Given the description of an element on the screen output the (x, y) to click on. 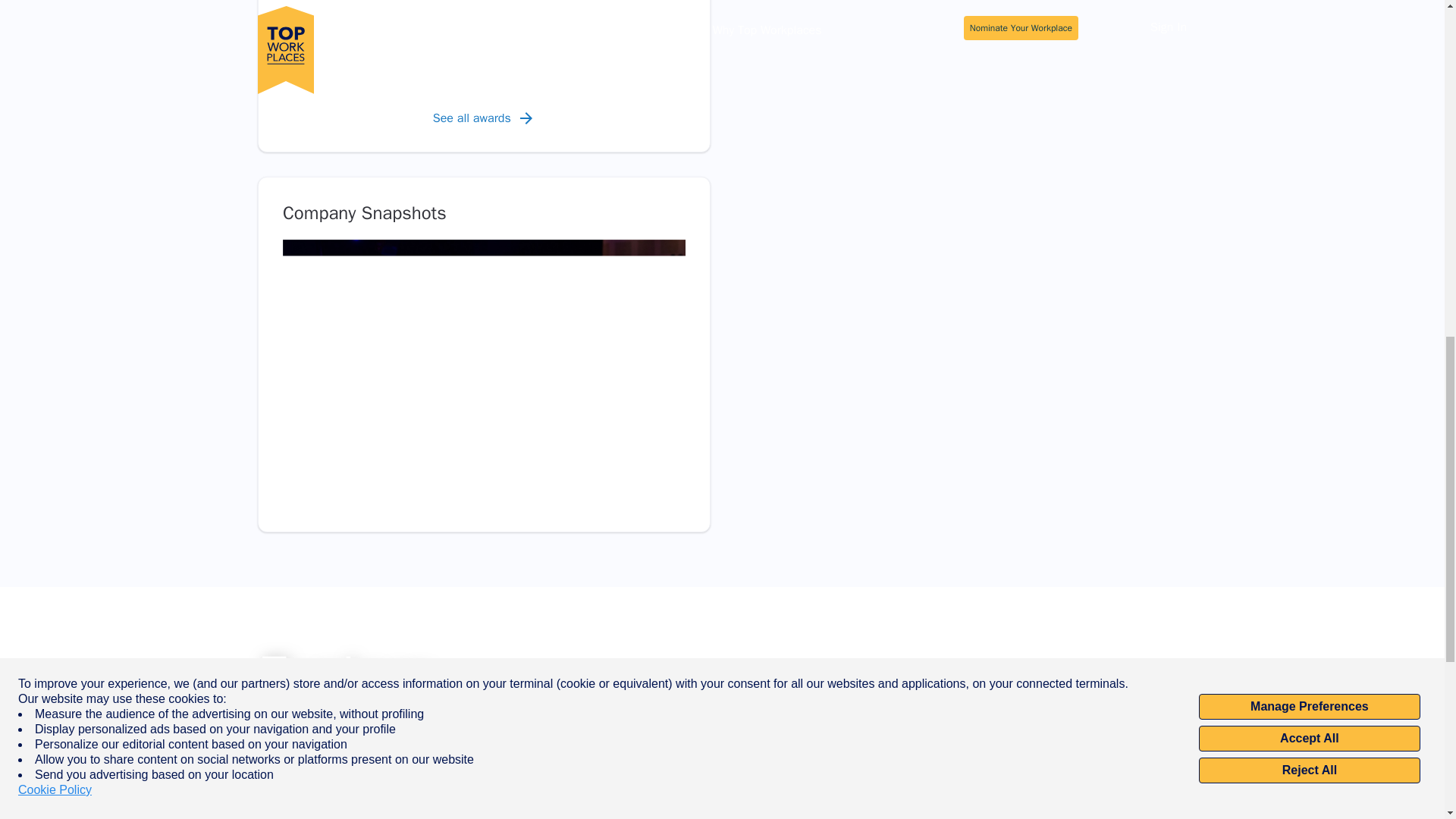
See all awards (483, 117)
